Given the description of an element on the screen output the (x, y) to click on. 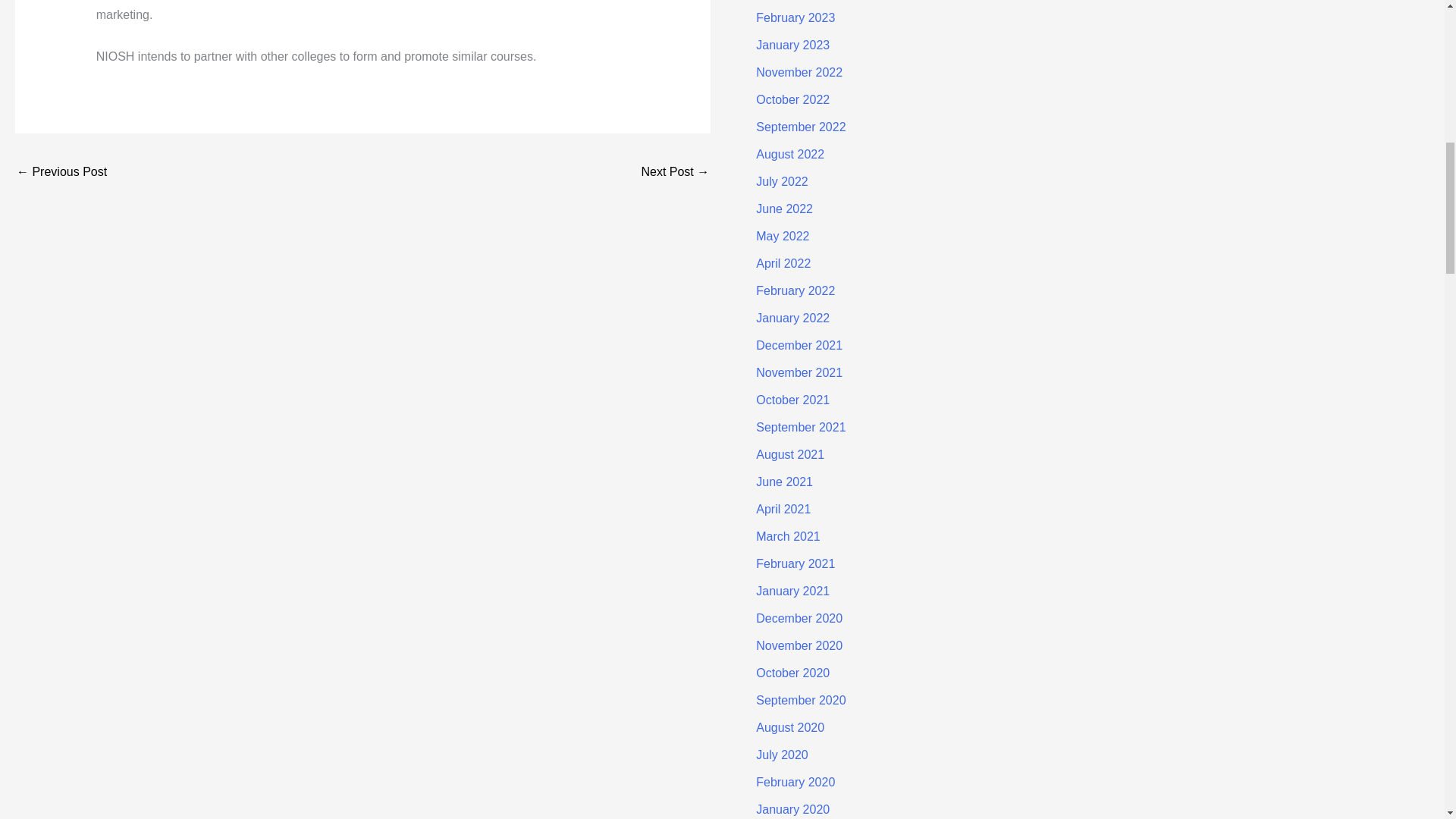
October 2022 (792, 99)
Surgeon General Finally Issues Written Warning of Asbestos (674, 172)
July 2022 (781, 181)
August 2022 (789, 154)
November 2022 (799, 72)
September 2022 (800, 126)
February 2023 (794, 17)
Hidden Signs of Progress Against Cancer (61, 172)
January 2023 (792, 44)
